Given the description of an element on the screen output the (x, y) to click on. 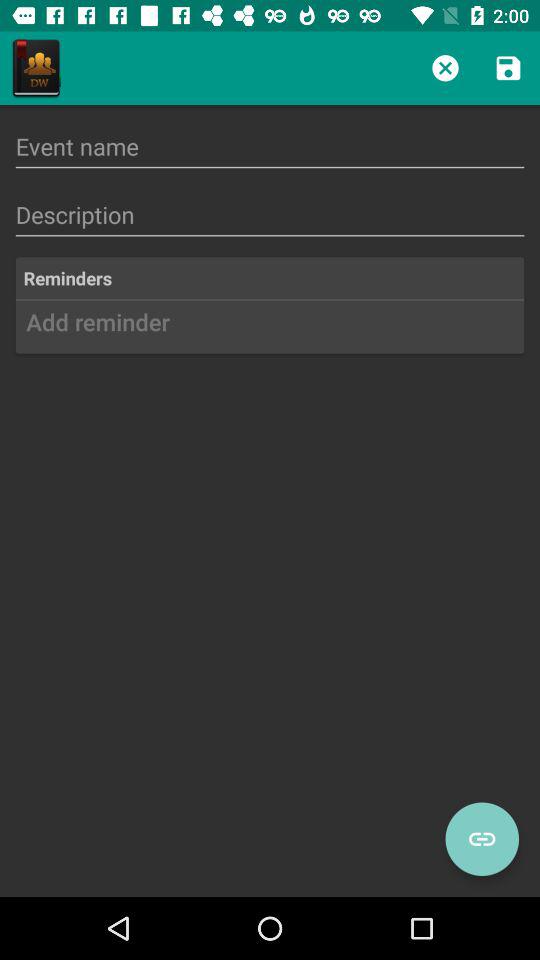
share event (482, 839)
